Given the description of an element on the screen output the (x, y) to click on. 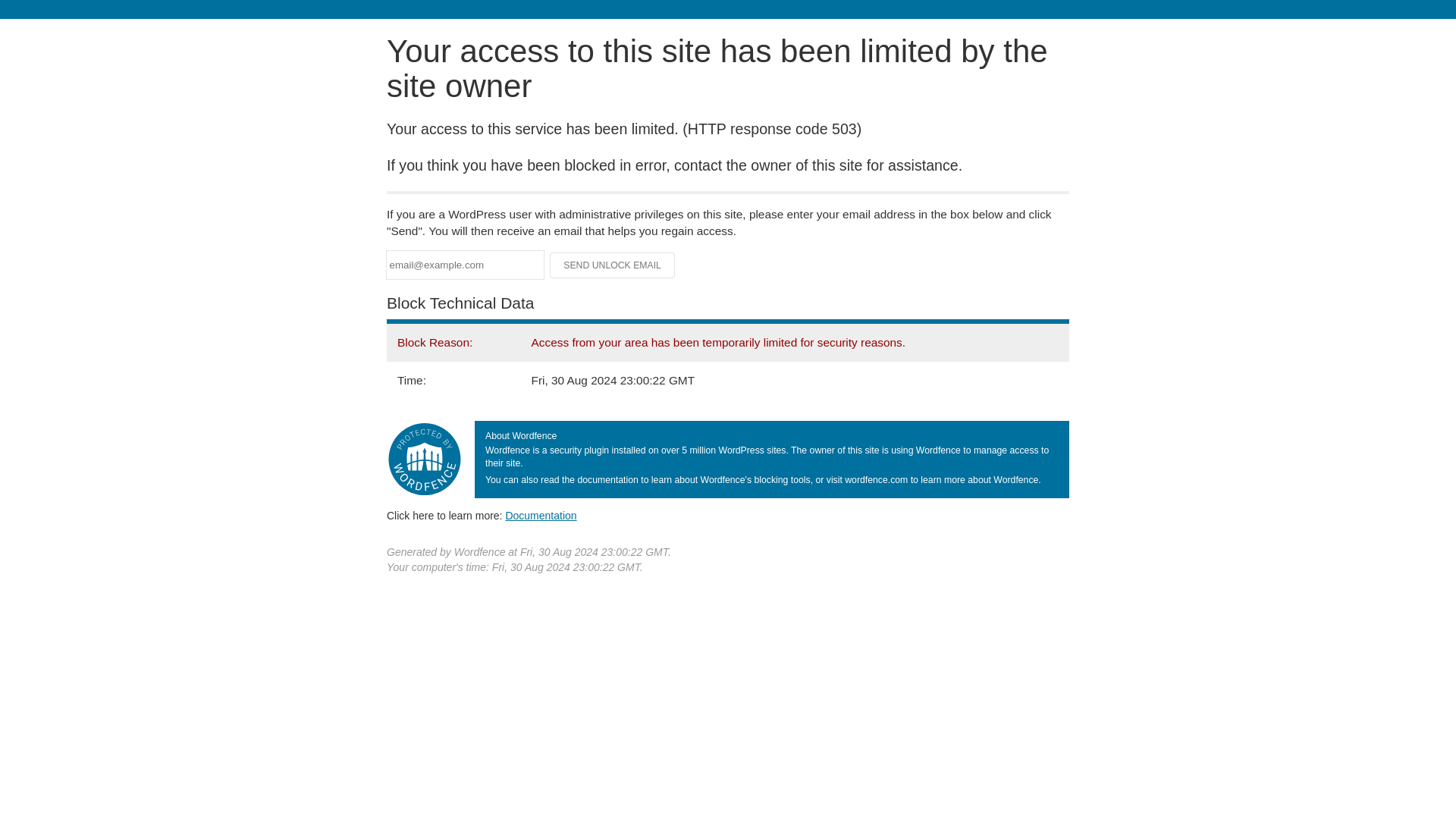
Send Unlock Email (612, 265)
Send Unlock Email (612, 265)
Documentation (540, 515)
